Given the description of an element on the screen output the (x, y) to click on. 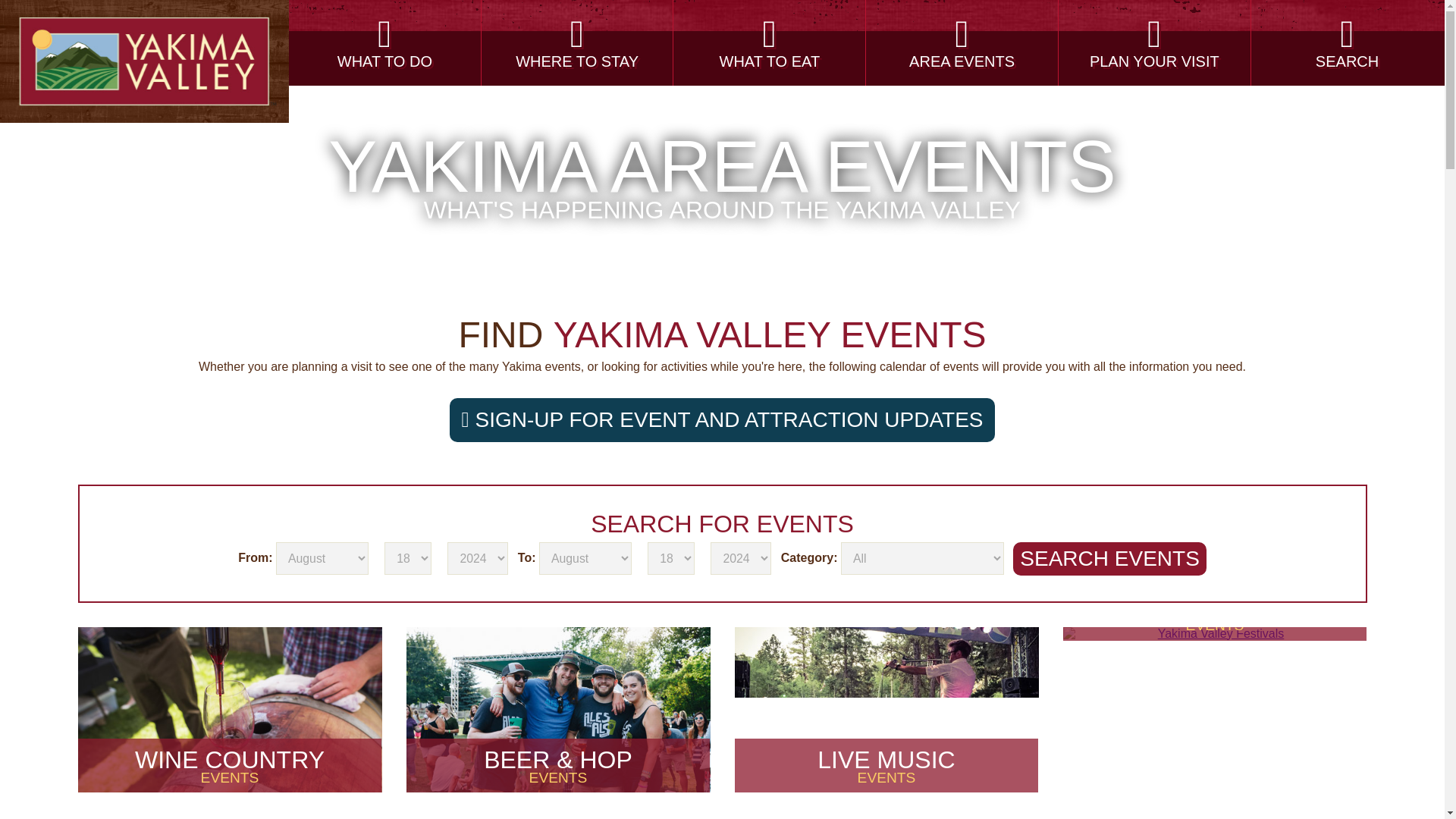
Search the Yakima Valley Tourism Website (1347, 42)
Sign-up for Event and Attraction Updates (721, 420)
Yakima Valley Lodging and Accommodations (1214, 633)
SEARCH (577, 42)
Yakima Valley Beer and Hop Events (1347, 42)
Yakima Valley Live Music Events (558, 710)
Yakima Valley Restaurants (885, 710)
